Given the description of an element on the screen output the (x, y) to click on. 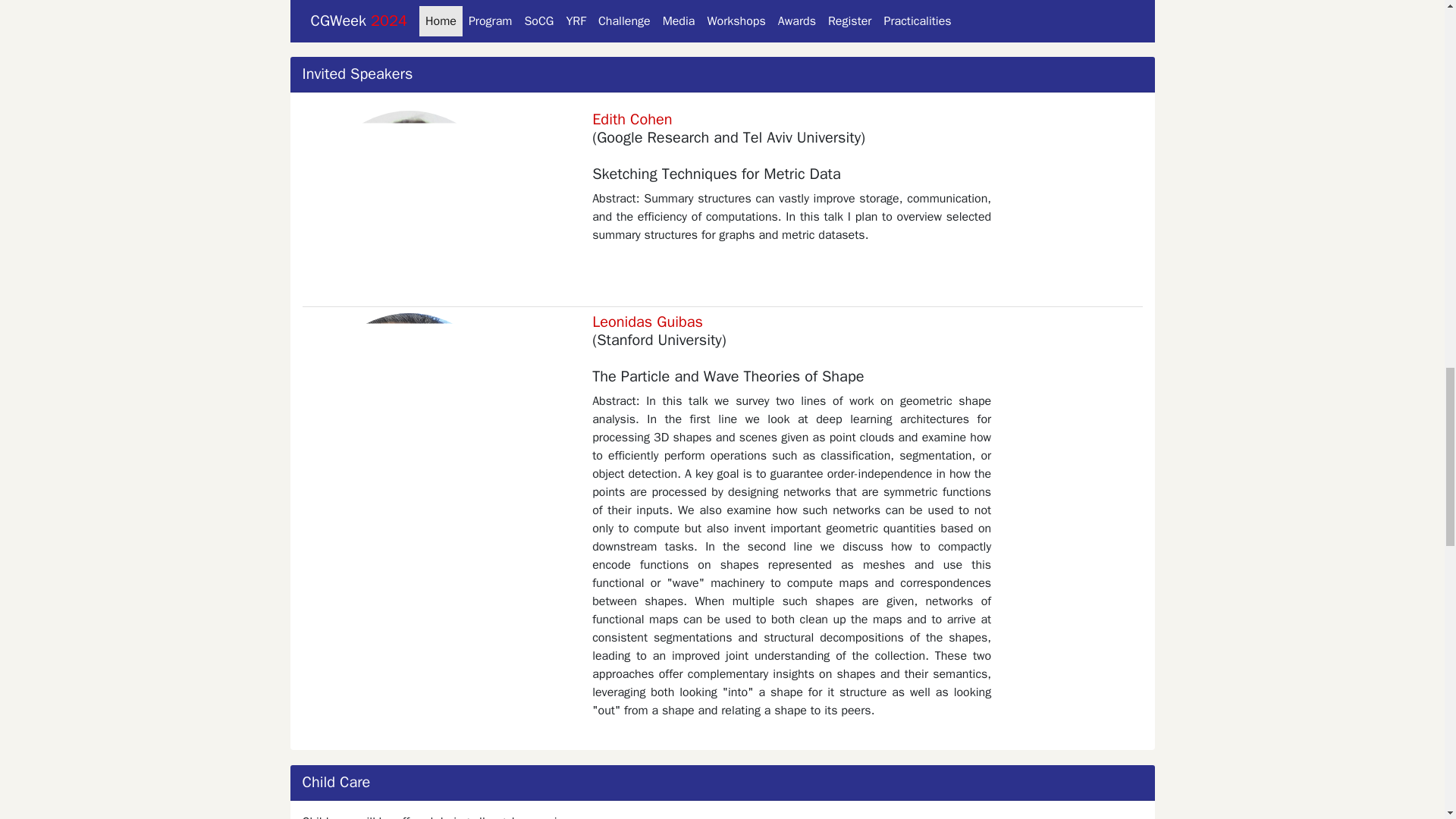
Leonidas Guibas (647, 321)
Edith Cohen (631, 118)
